Given the description of an element on the screen output the (x, y) to click on. 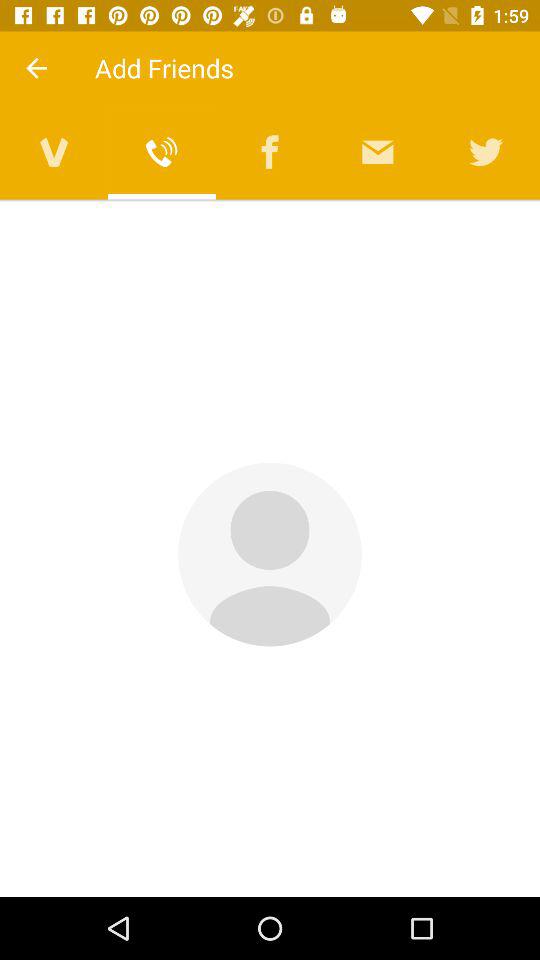
initiates phone call (162, 152)
